Given the description of an element on the screen output the (x, y) to click on. 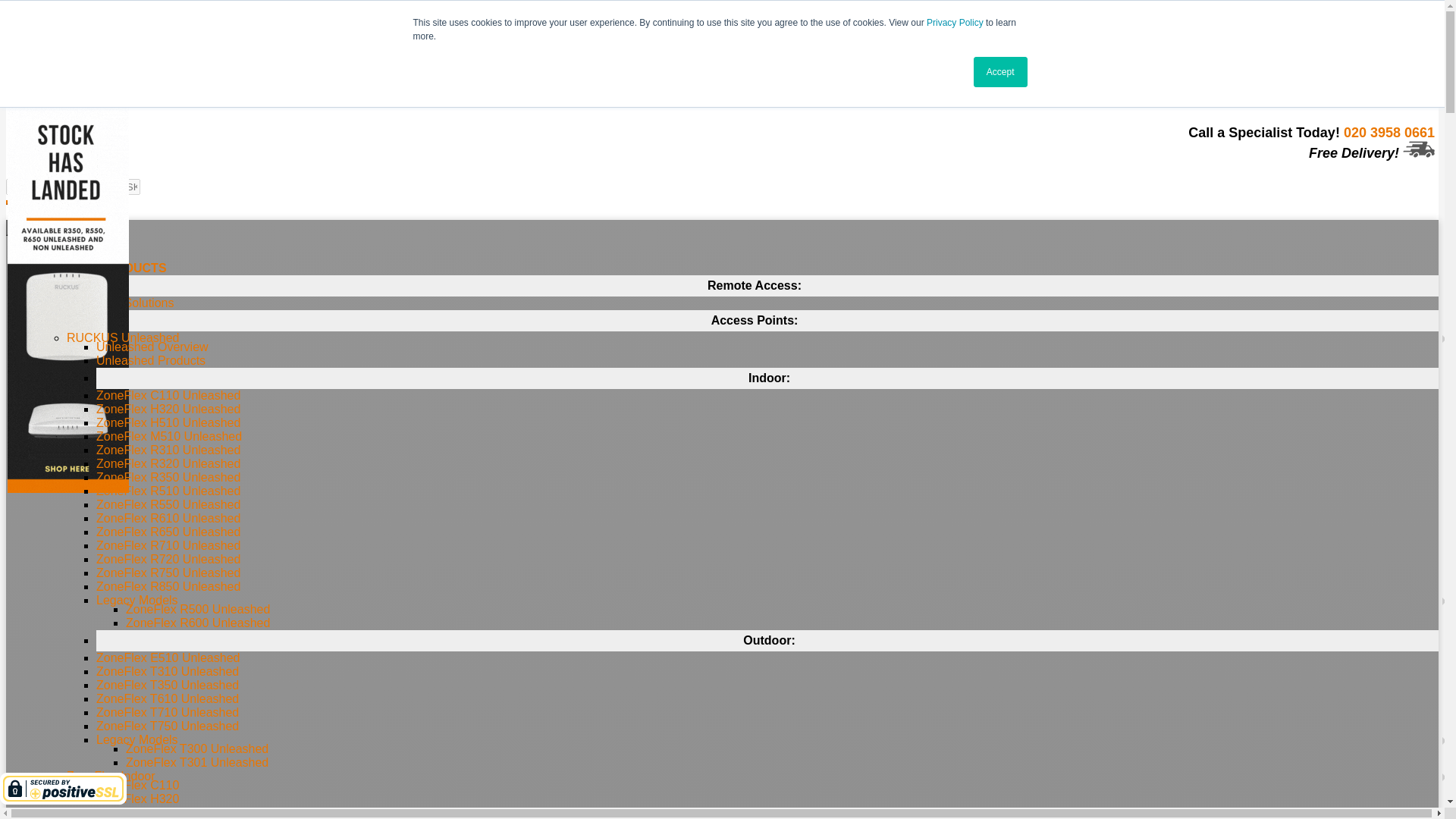
ZoneFlex R650 Unleashed (168, 531)
ZoneFlex T350 Unleashed (167, 684)
ZoneFlex E510 Unleashed (168, 657)
Products (60, 254)
ZoneFlex R750 Unleashed (168, 572)
ZoneFlex T300 Unleashed (196, 748)
RUCKUS Unleashed (122, 337)
ZoneFlex R500 Unleashed (197, 608)
Education Solutions (119, 302)
ZoneFlex R310 Unleashed (168, 449)
Legacy Models (136, 739)
ZoneFlex H510 Unleashed (168, 422)
020 3958 0661 (251, 90)
ZoneFlex R350 Unleashed (168, 477)
Legacy Models (136, 599)
